Given the description of an element on the screen output the (x, y) to click on. 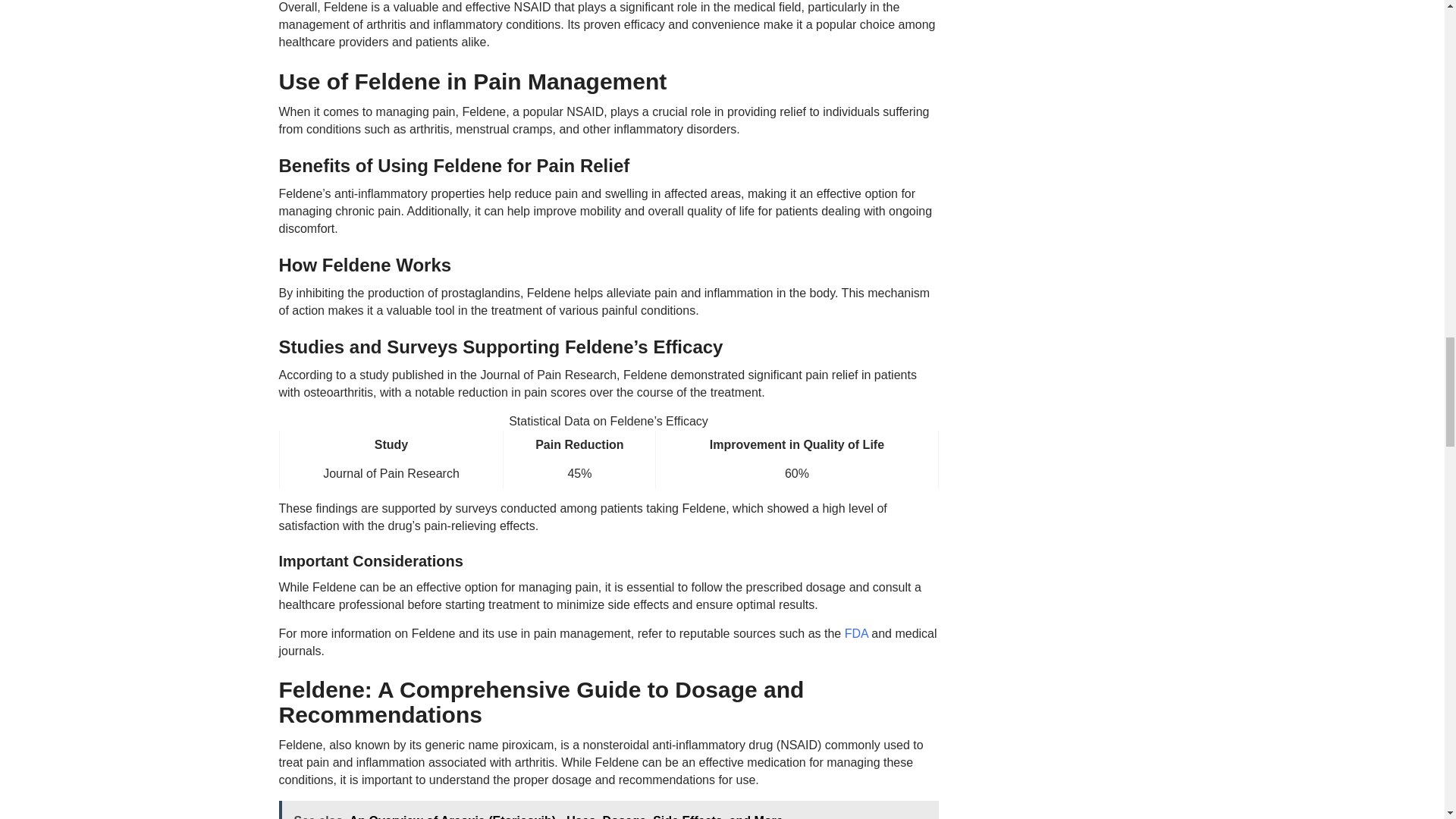
FDA (855, 633)
